Given the description of an element on the screen output the (x, y) to click on. 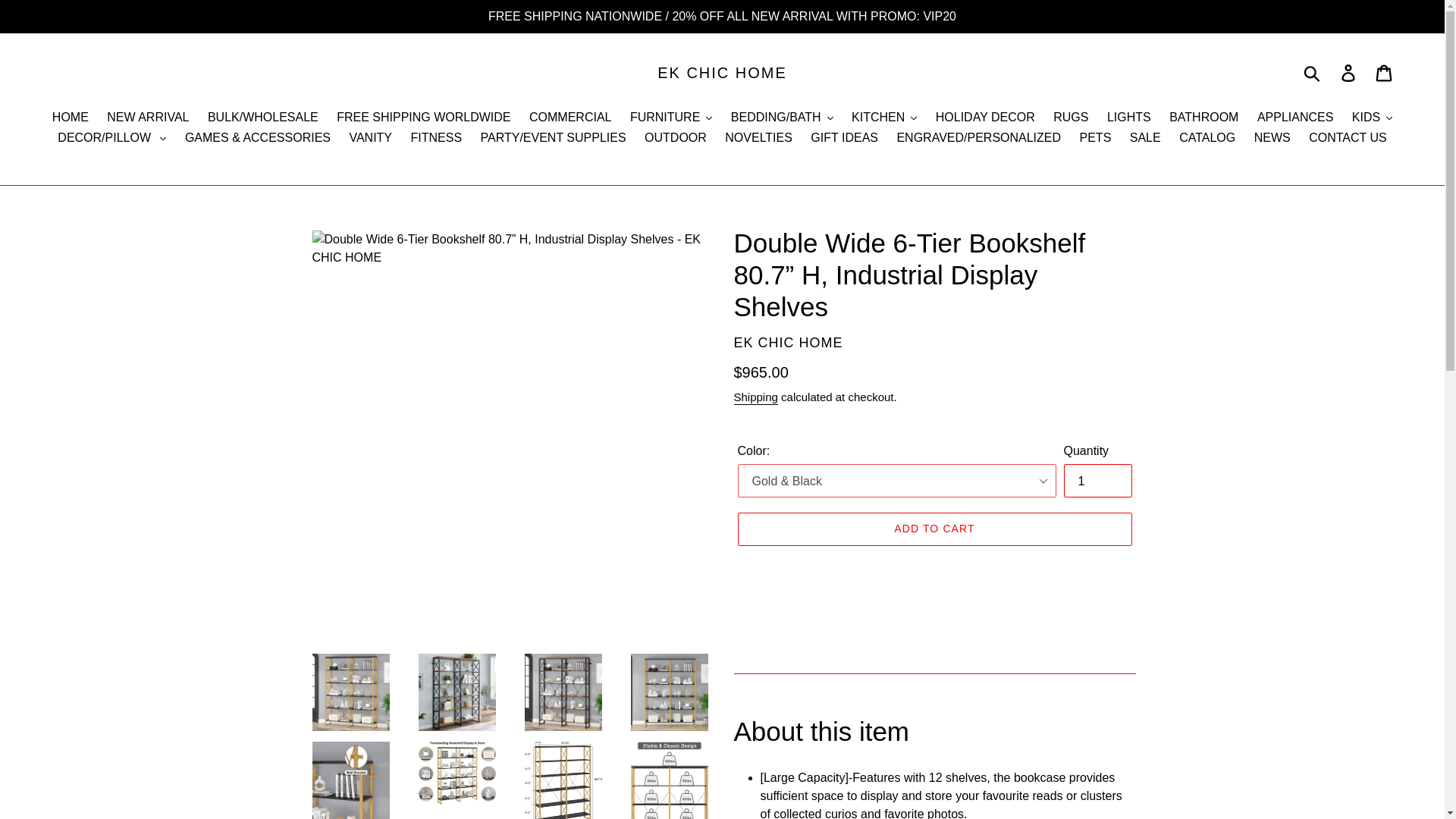
Cart (1385, 72)
Log in (1349, 72)
Submit (1313, 72)
1 (1096, 480)
EK CHIC HOME (722, 72)
